Given the description of an element on the screen output the (x, y) to click on. 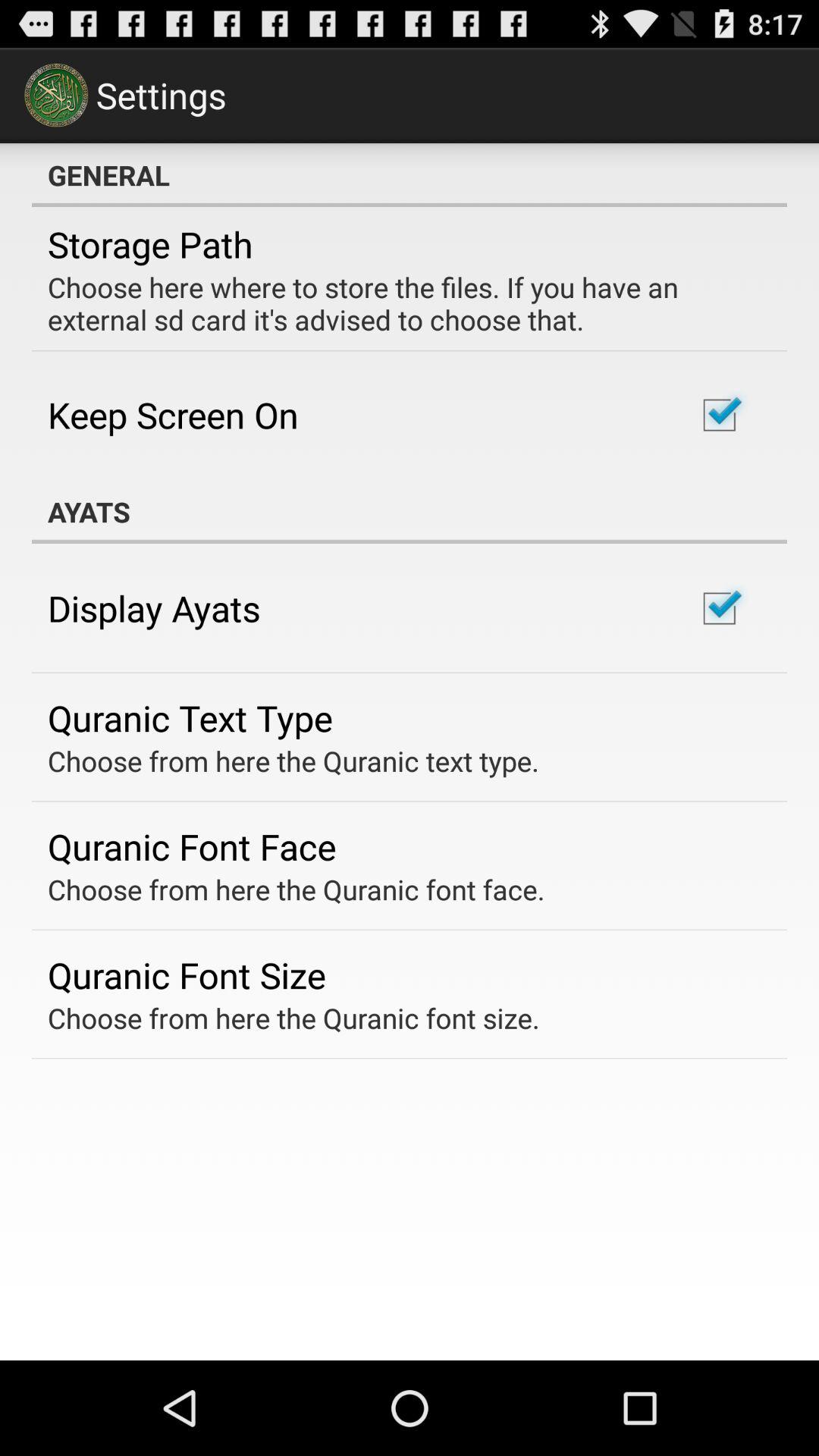
open the icon above the choose here where item (150, 244)
